Given the description of an element on the screen output the (x, y) to click on. 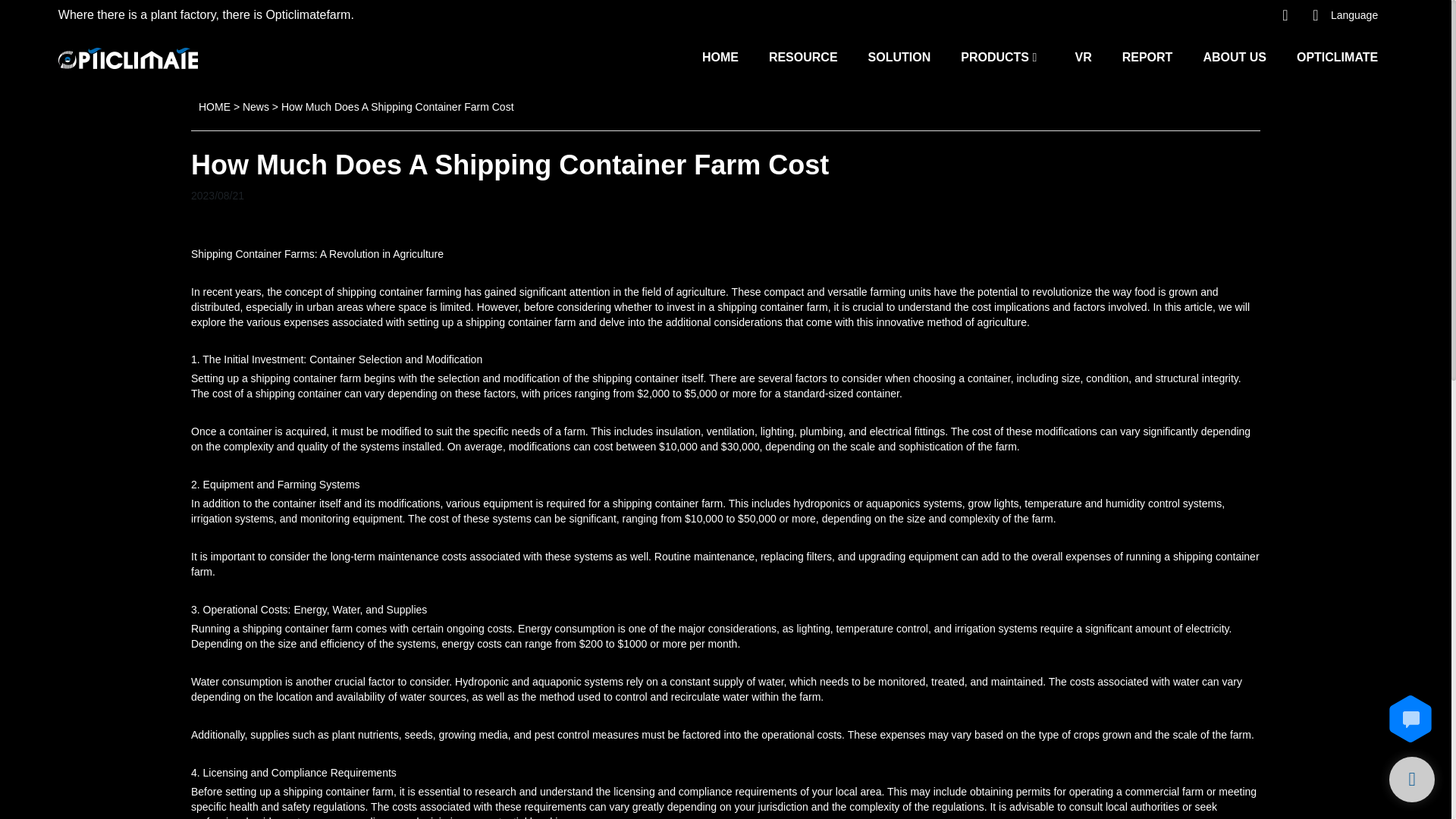
HOME (719, 56)
HOME (214, 106)
ABOUT US (1234, 56)
How Much Does A Shipping Container Farm Cost (397, 106)
News (256, 106)
PRODUCTS (994, 56)
SOLUTION (899, 56)
REPORT (1147, 56)
OPTICLIMATE (1337, 56)
RESOURCE (803, 56)
